Given the description of an element on the screen output the (x, y) to click on. 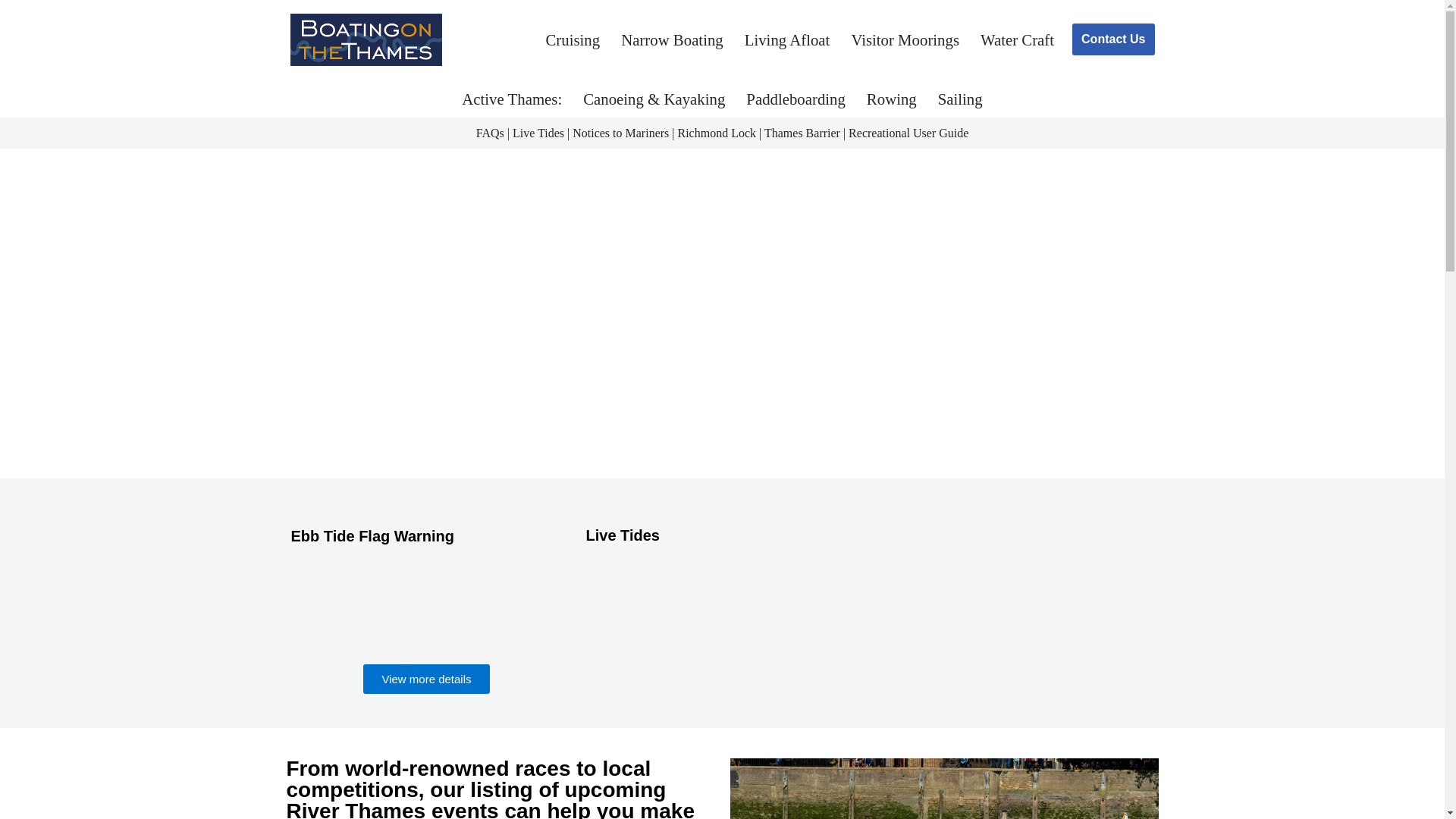
Living Afloat (786, 39)
View more details (425, 678)
Ebb Tide Flag Warning (372, 535)
Recreational User Guide (908, 132)
Rowing (891, 98)
Thames Barrier (802, 132)
Cruising (572, 39)
Richmond Lock (716, 132)
Notices to Mariners (620, 132)
Narrow Boating (672, 39)
